Given the description of an element on the screen output the (x, y) to click on. 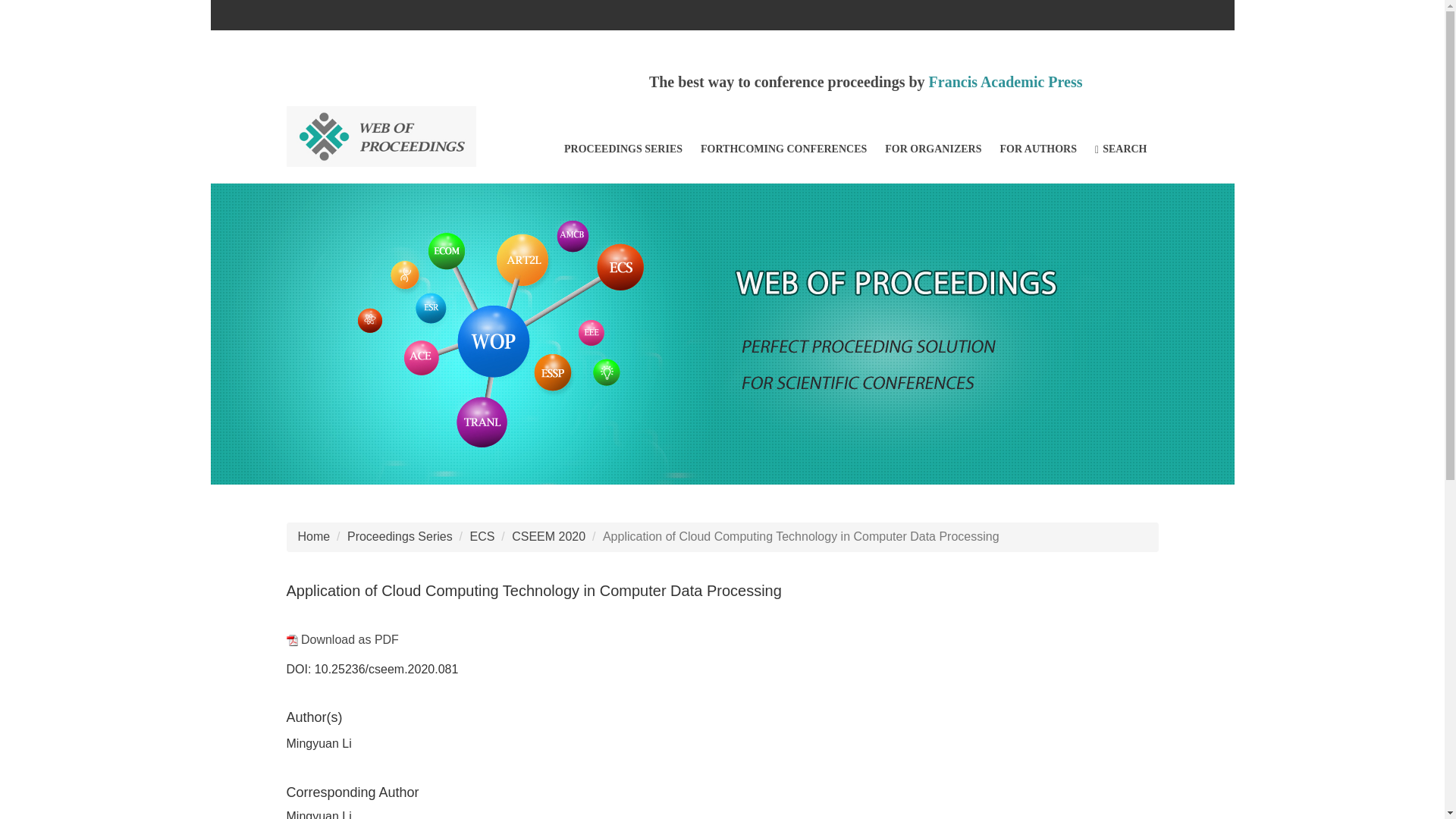
Download as PDF (342, 639)
FOR ORGANIZERS (933, 148)
Home (313, 535)
ECS (482, 535)
PROCEEDINGS SERIES (623, 148)
FORTHCOMING CONFERENCES (783, 148)
SEARCH (1120, 148)
Francis Academic Press (1005, 81)
FOR AUTHORS (1037, 148)
CSEEM 2020 (548, 535)
